Given the description of an element on the screen output the (x, y) to click on. 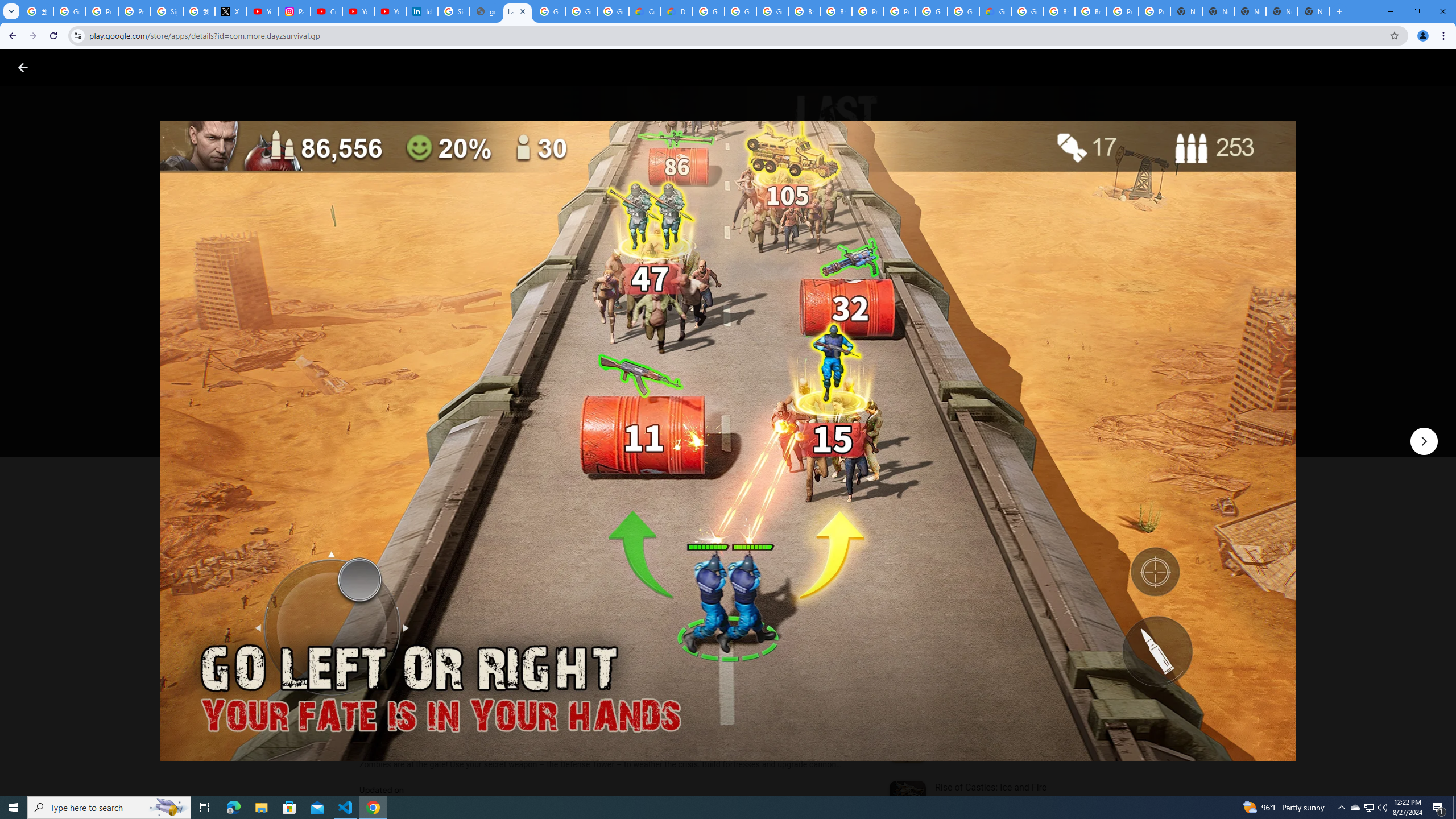
Play trailer (1062, 423)
Add to wishlist (576, 422)
Privacy Help Center - Policies Help (101, 11)
YouTube Content Monetization Policies - How YouTube Works (262, 11)
Kids (219, 67)
Scroll Next (848, 563)
Screenshot image (817, 563)
Sign in - Google Accounts (166, 11)
